Given the description of an element on the screen output the (x, y) to click on. 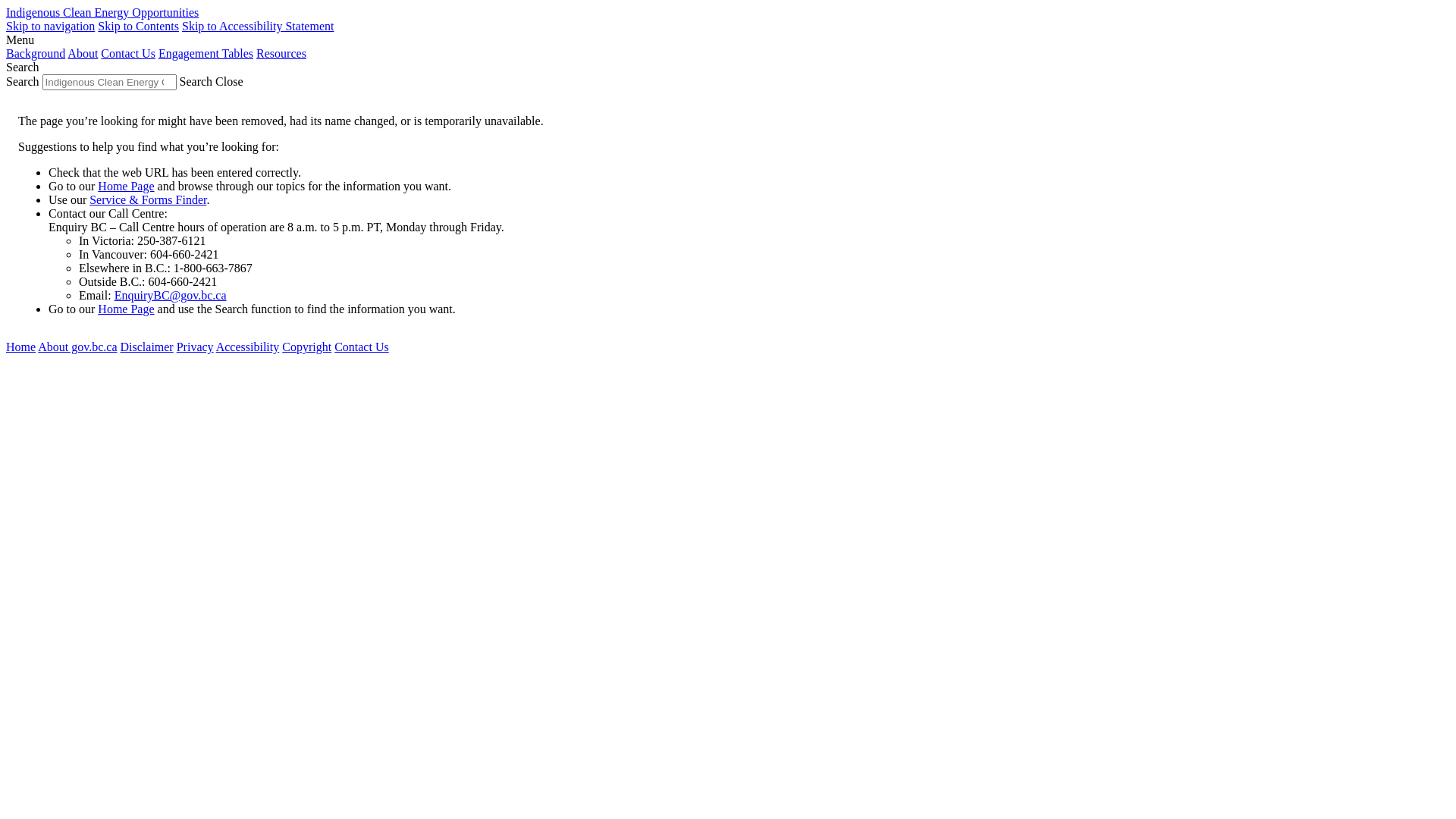
Resources Element type: text (281, 53)
Skip to Contents Element type: text (137, 25)
EnquiryBC@gov.bc.ca Element type: text (170, 294)
Accessibility Element type: text (247, 346)
Engagement Tables Element type: text (205, 53)
Indigenous Clean Energy Opportunities Element type: text (102, 12)
Contact Us Element type: text (127, 53)
Service & Forms Finder Element type: text (147, 199)
Disclaimer Element type: text (145, 346)
Skip to navigation Element type: text (50, 25)
Home Page Element type: text (125, 185)
Home Element type: text (20, 346)
Privacy Element type: text (194, 346)
Home Page Element type: text (125, 308)
About Element type: text (82, 53)
Skip to Accessibility Statement Element type: text (257, 25)
About gov.bc.ca Element type: text (76, 346)
Background Element type: text (35, 53)
Contact Us Element type: text (361, 346)
Copyright Element type: text (306, 346)
